Given the description of an element on the screen output the (x, y) to click on. 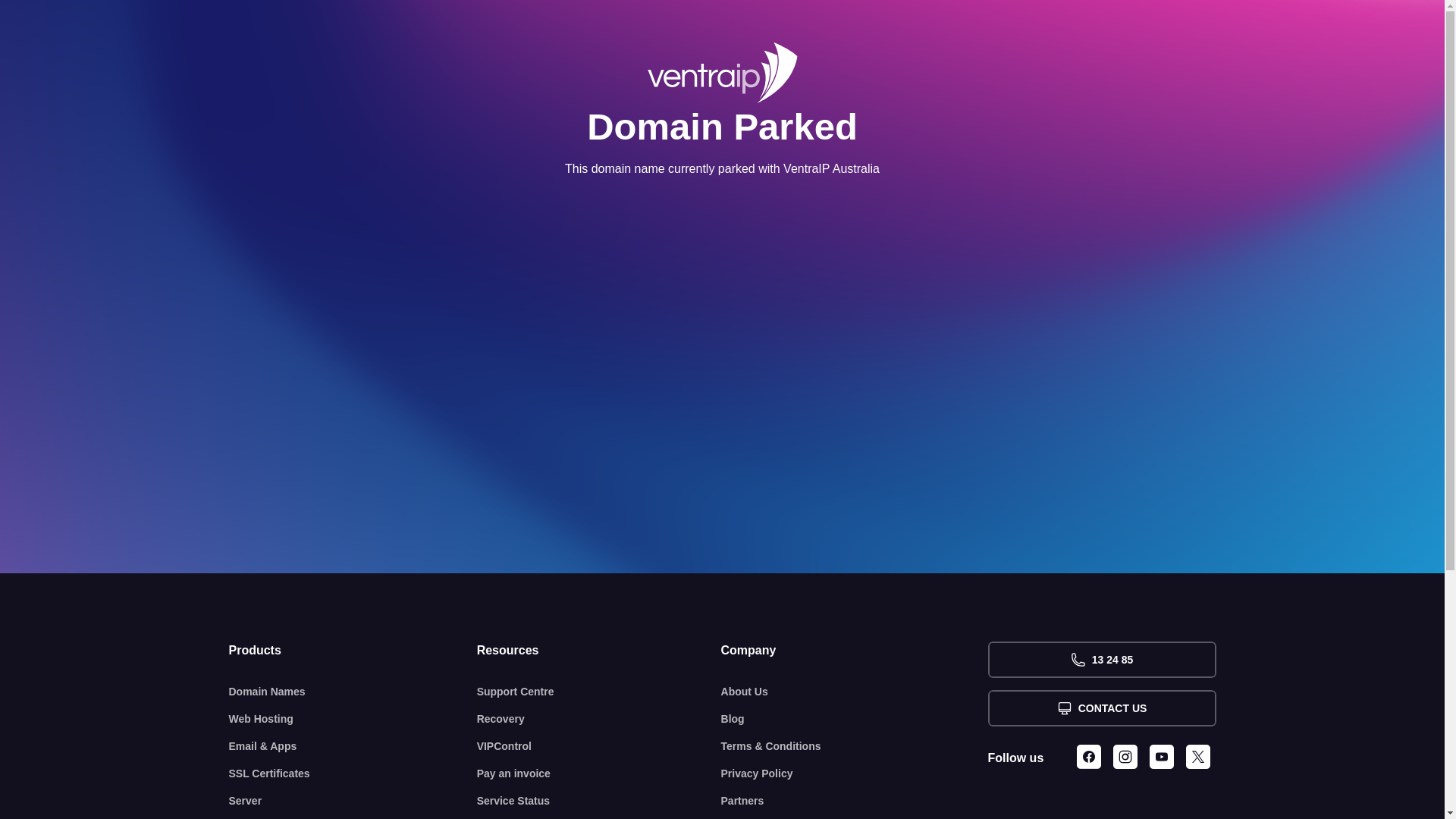
Blog Element type: text (854, 718)
CONTACT US Element type: text (1101, 708)
Recovery Element type: text (598, 718)
Service Status Element type: text (598, 800)
Email & Apps Element type: text (352, 745)
Server Element type: text (352, 800)
Support Centre Element type: text (598, 691)
SSL Certificates Element type: text (352, 773)
13 24 85 Element type: text (1101, 659)
Privacy Policy Element type: text (854, 773)
Pay an invoice Element type: text (598, 773)
Terms & Conditions Element type: text (854, 745)
VIPControl Element type: text (598, 745)
Partners Element type: text (854, 800)
About Us Element type: text (854, 691)
Web Hosting Element type: text (352, 718)
Domain Names Element type: text (352, 691)
